Given the description of an element on the screen output the (x, y) to click on. 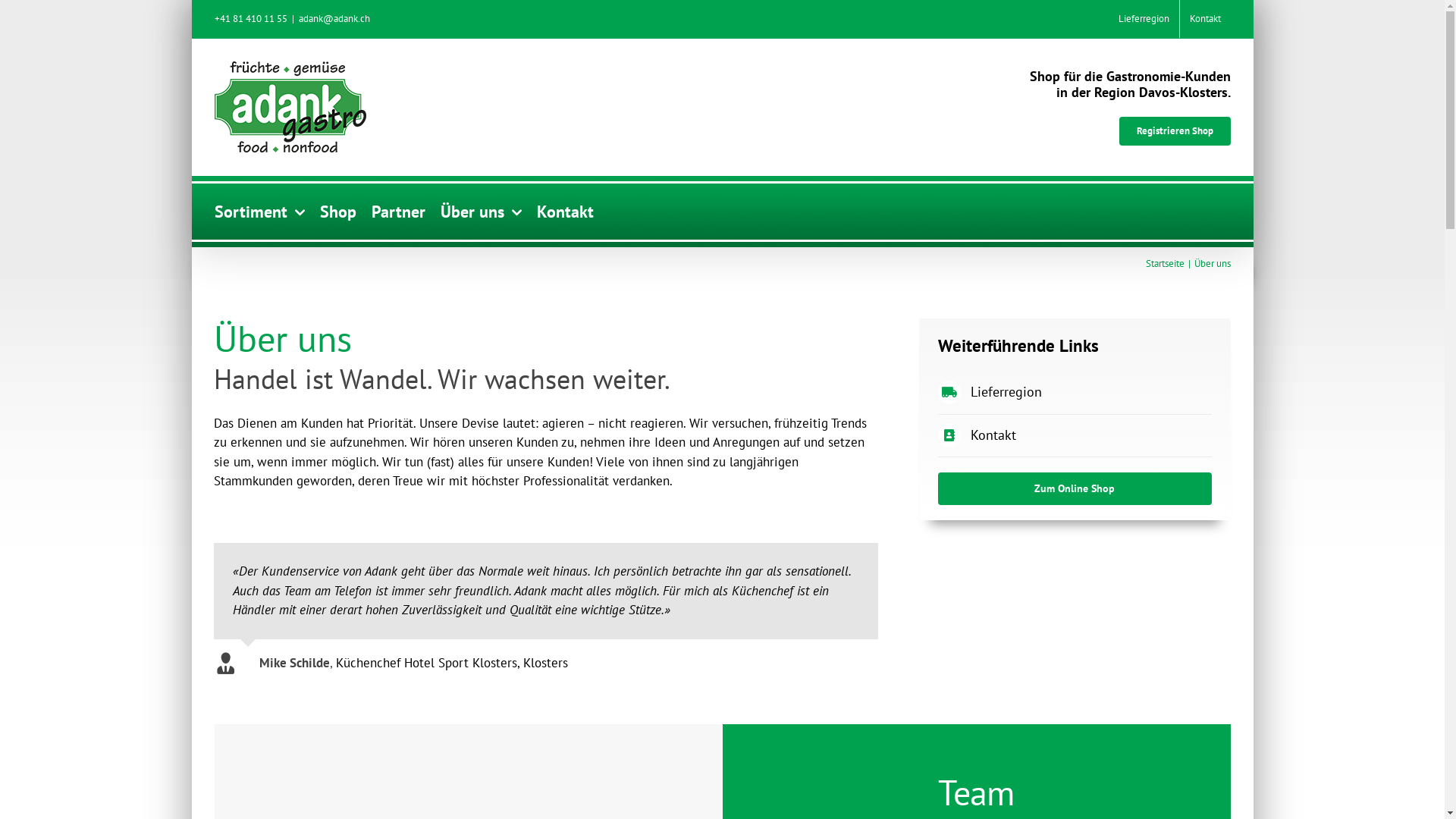
Lieferregion Element type: text (1143, 18)
Lieferregion Element type: text (1005, 391)
Kontakt Element type: text (993, 434)
Sortiment Element type: text (258, 210)
Kontakt Element type: text (564, 210)
Registrieren Shop Element type: text (1174, 130)
Startseite Element type: text (1164, 263)
Kontakt Element type: text (1204, 18)
adank@adank.ch Element type: text (334, 18)
Partner Element type: text (398, 210)
Zum Online Shop Element type: text (1074, 488)
Shop Element type: text (338, 210)
